Given the description of an element on the screen output the (x, y) to click on. 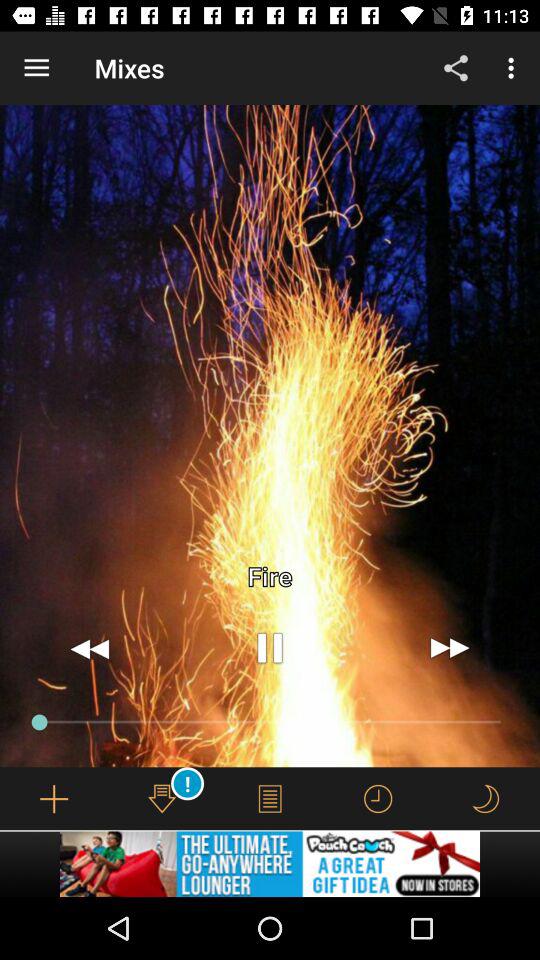
set a timer (378, 798)
